Given the description of an element on the screen output the (x, y) to click on. 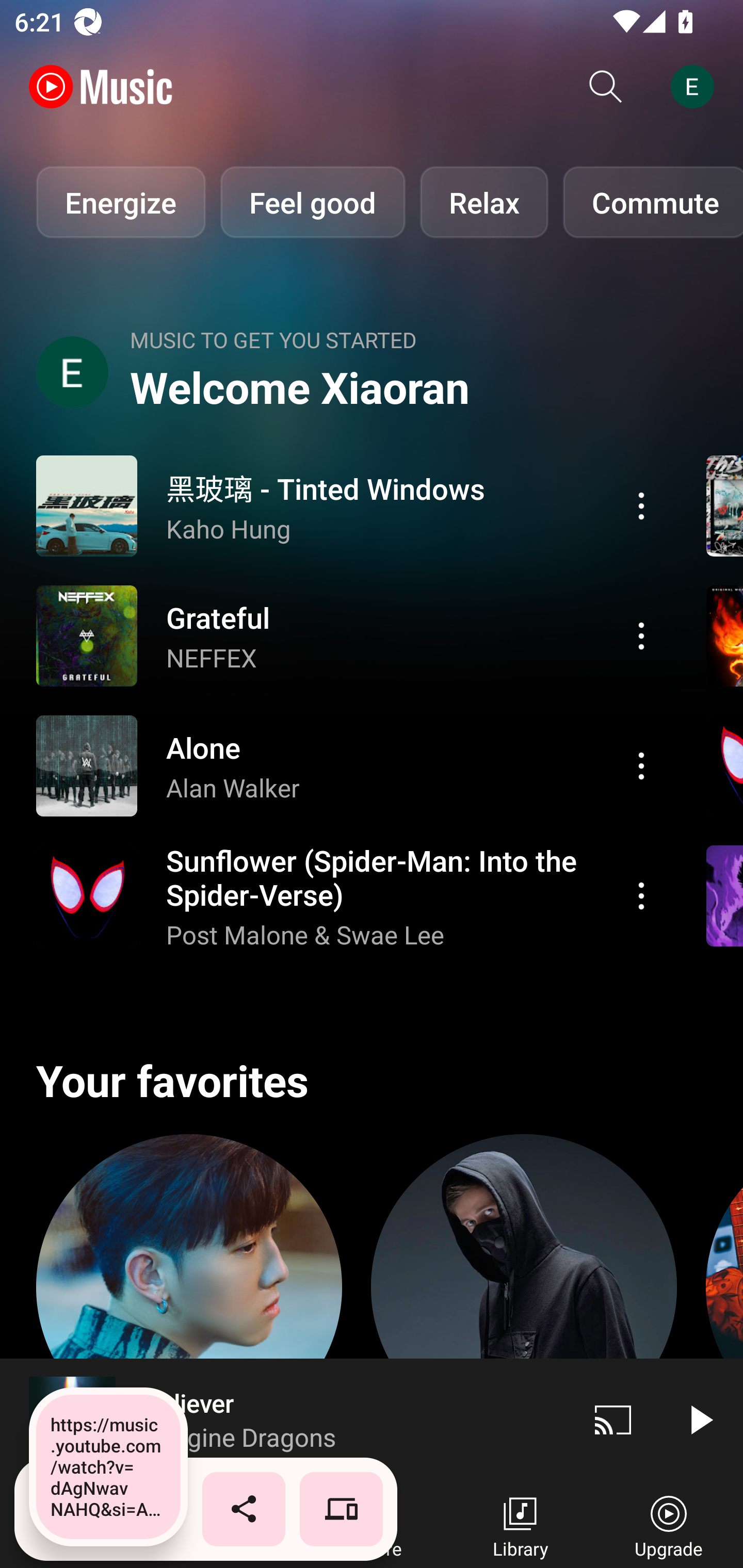
Search (605, 86)
Account (696, 86)
Action menu (349, 505)
Action menu (641, 505)
Action menu (349, 635)
Action menu (641, 635)
Action menu (349, 765)
Action menu (641, 765)
Action menu (349, 896)
Action menu (641, 896)
Cast. Disconnected (612, 1419)
Play video (699, 1419)
Library (519, 1524)
Upgrade (668, 1524)
